Given the description of an element on the screen output the (x, y) to click on. 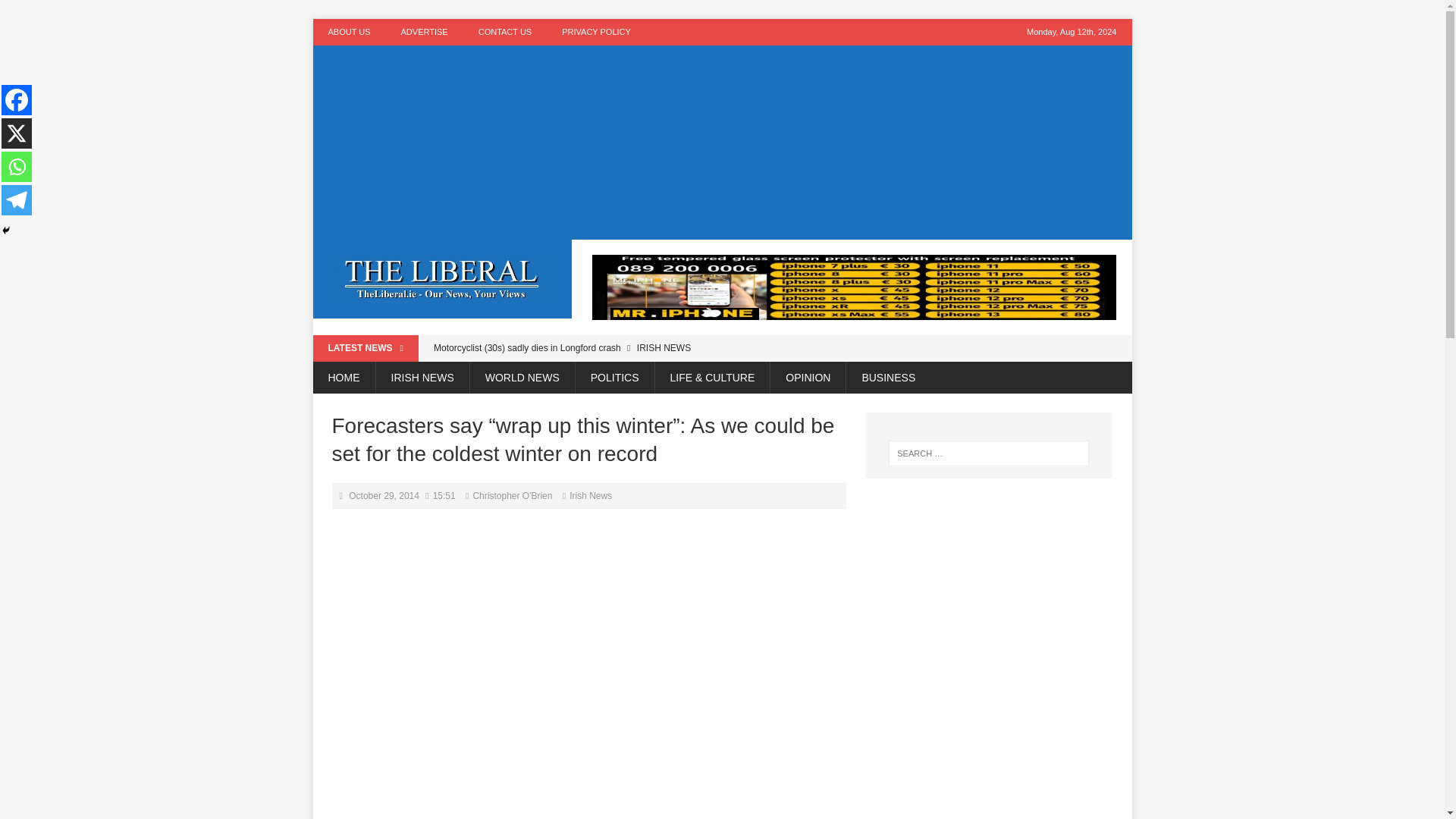
X (16, 132)
CONTACT US (505, 31)
IRISH NEWS (421, 377)
BUSINESS (887, 377)
TheLiberal.ie - Our News, Your Views (442, 278)
Facebook (16, 100)
15:51 (443, 495)
OPINION (807, 377)
HOME (343, 377)
